Given the description of an element on the screen output the (x, y) to click on. 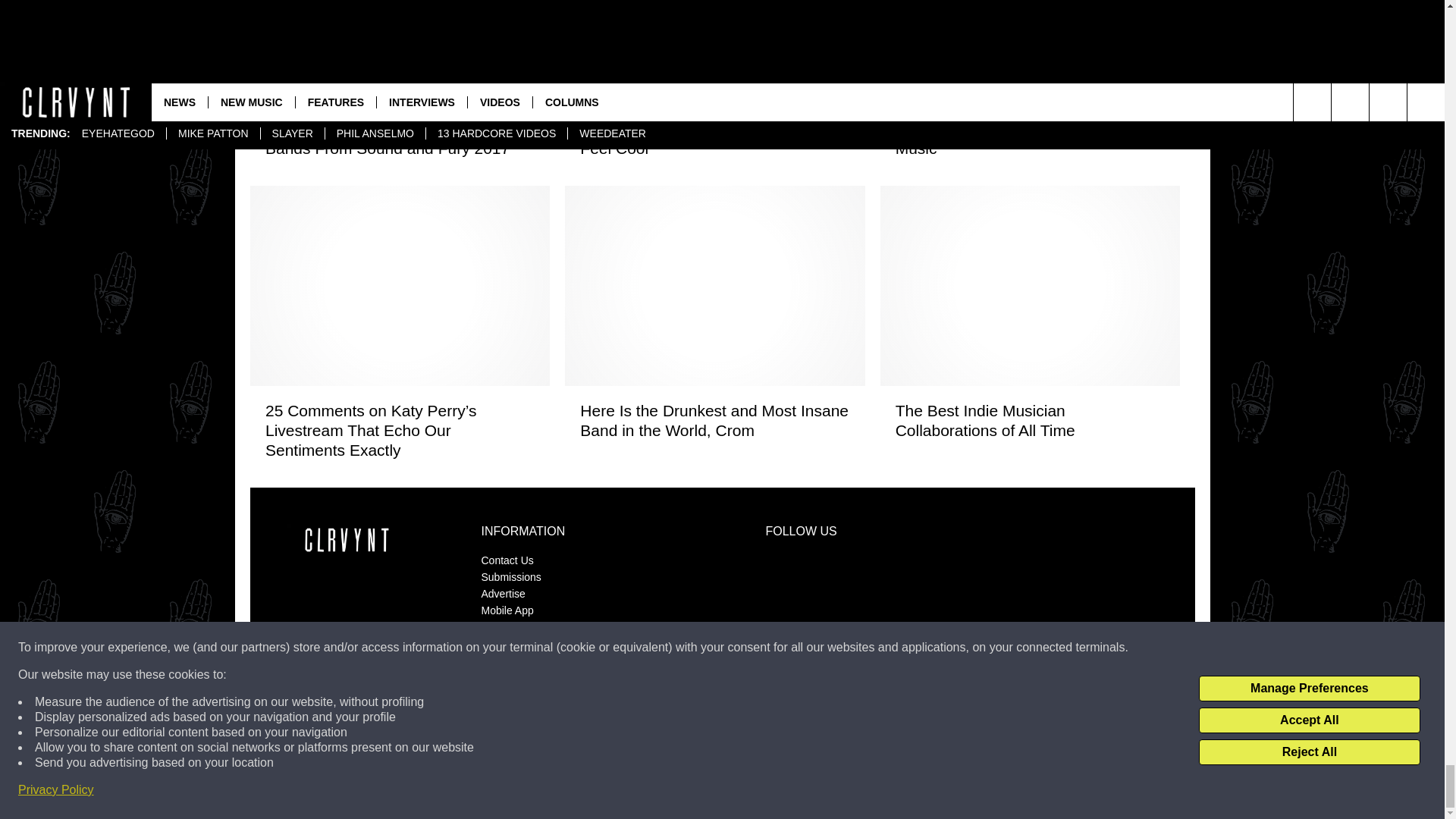
Five Indie Bands That Will Make Dad Feel Cool (713, 138)
